Given the description of an element on the screen output the (x, y) to click on. 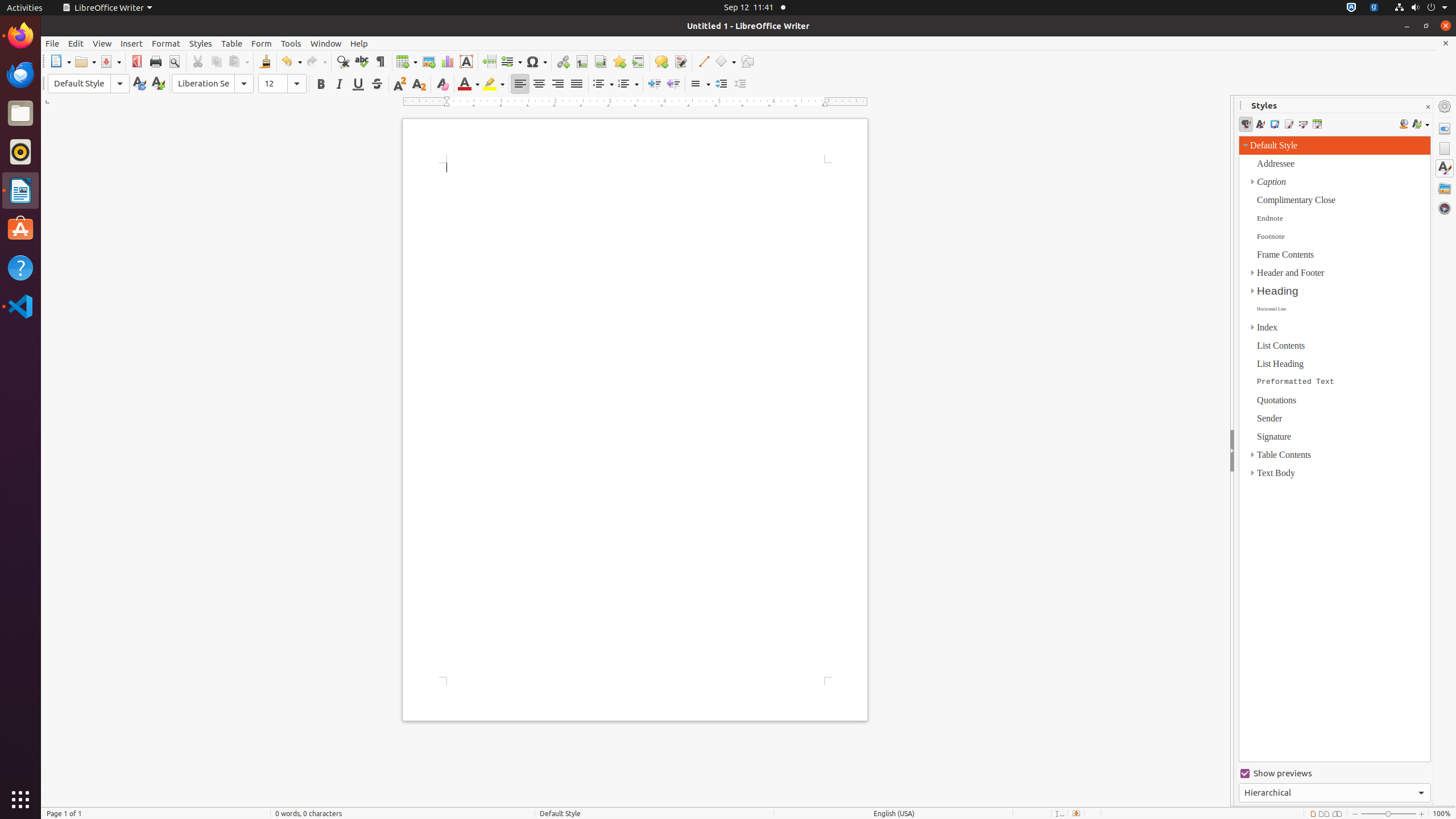
Gallery Element type: radio-button (1444, 188)
Insert Element type: menu (131, 43)
Subscript Element type: toggle-button (418, 83)
Formatting Element type: tool-bar (395, 83)
Tools Element type: menu (290, 43)
